Given the description of an element on the screen output the (x, y) to click on. 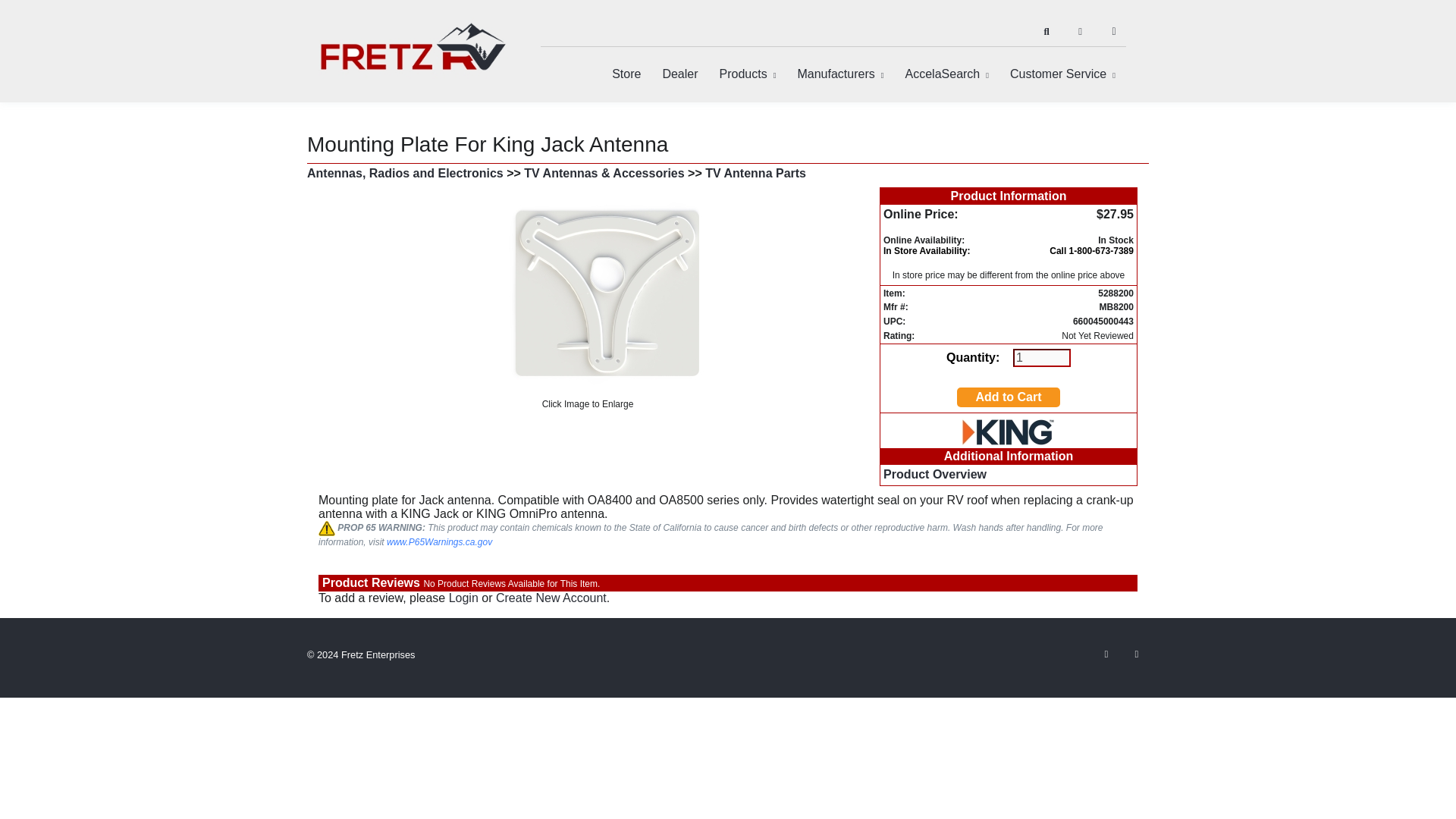
Add to Cart (1007, 396)
Dealer (678, 74)
1 (1041, 357)
Manufacturers (839, 74)
Products (748, 74)
